Given the description of an element on the screen output the (x, y) to click on. 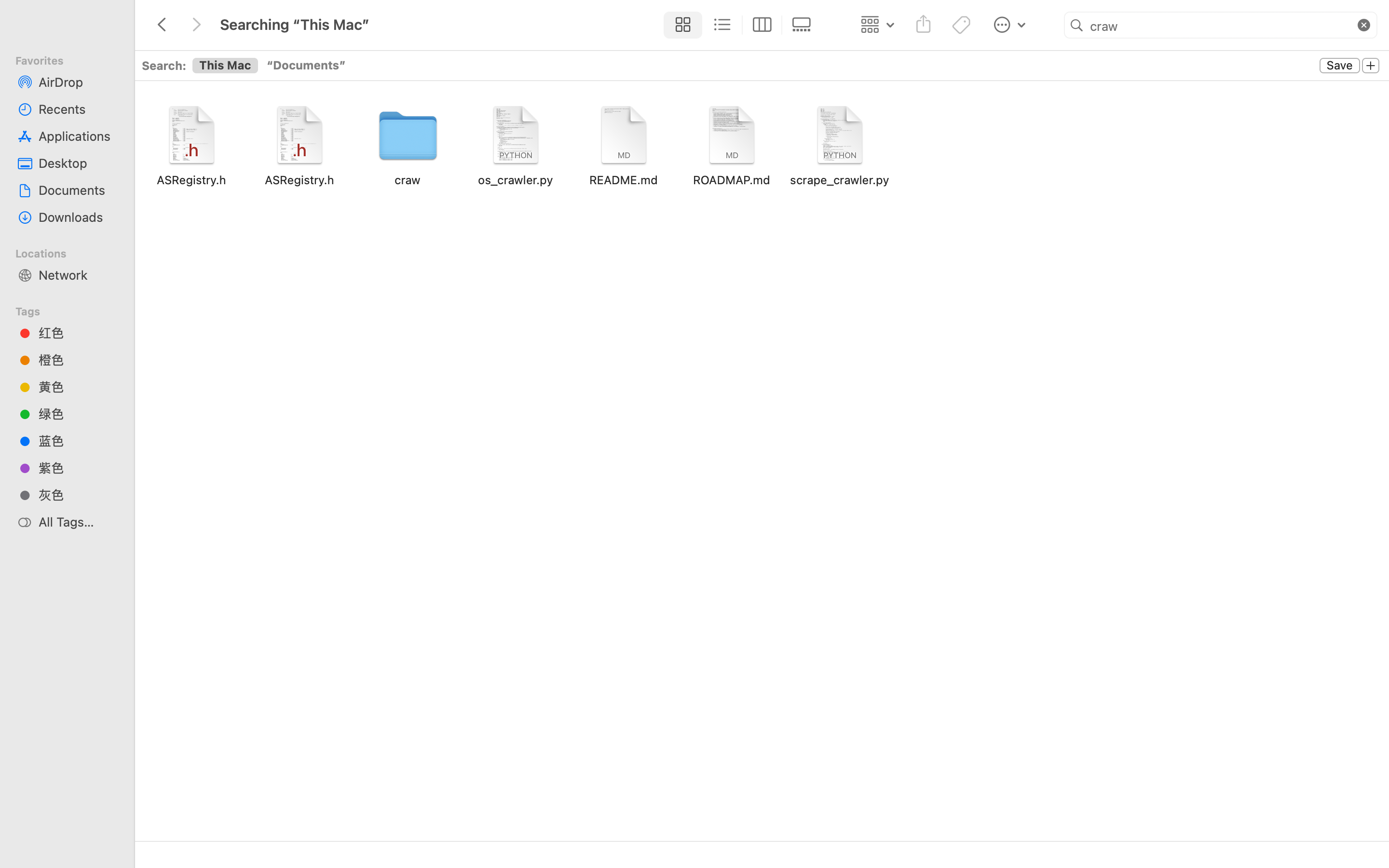
Searching “This Mac” Element type: AXStaticText (437, 827)
<AXUIElement 0x14c1d5f00> {pid=510} Element type: AXRadioGroup (271, 65)
Locations Element type: AXStaticText (72, 252)
craw Element type: AXTextField (1220, 25)
紫色 Element type: AXStaticText (77, 467)
